Given the description of an element on the screen output the (x, y) to click on. 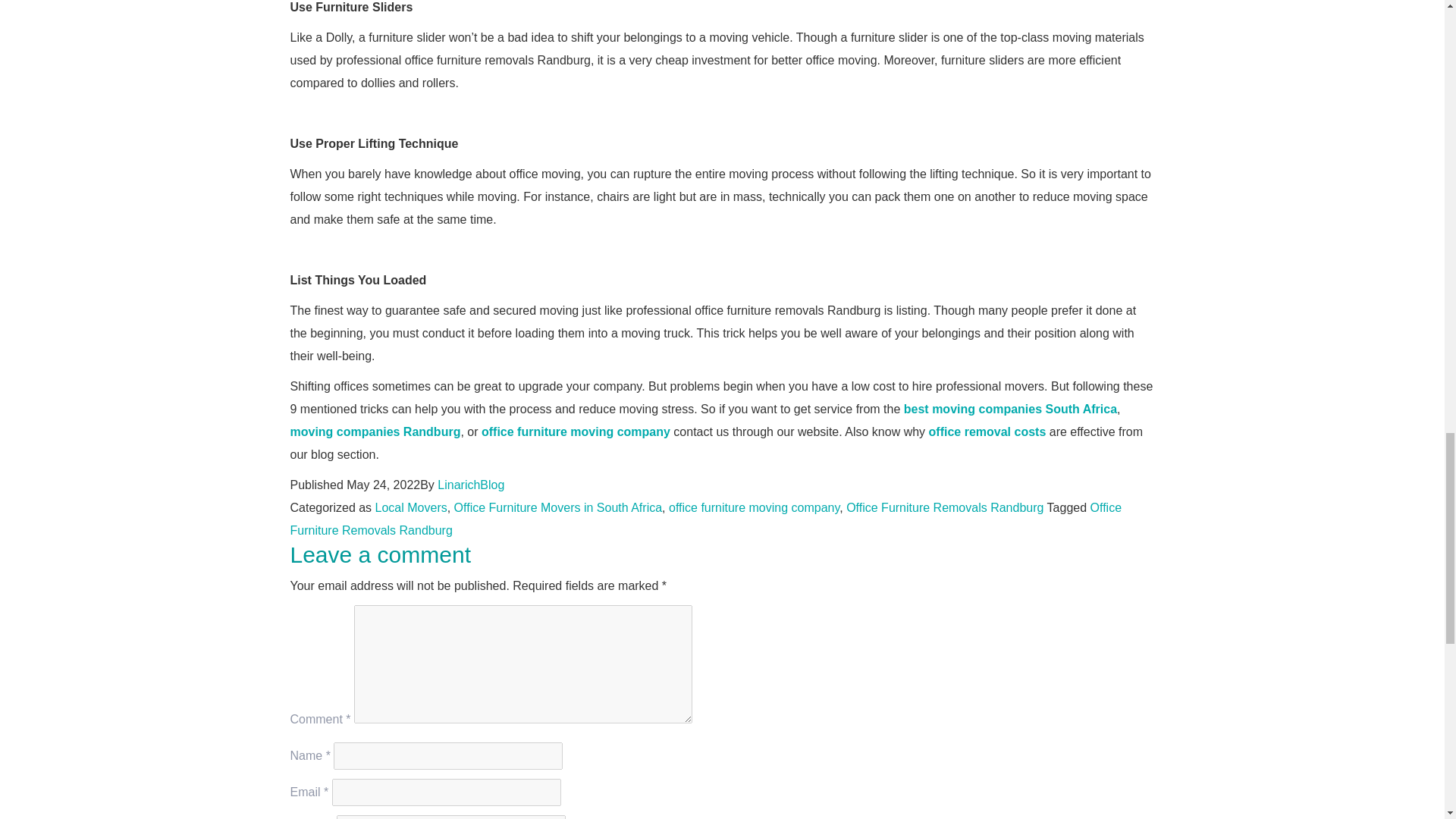
office furniture moving company (575, 431)
best moving companies South Africa (1010, 408)
Office Furniture Movers in South Africa (558, 507)
LinarichBlog (470, 484)
Office Furniture Removals Randburg (944, 507)
office removal costs (987, 431)
Office Furniture Removals Randburg (705, 519)
moving companies Randburg (374, 431)
office furniture moving company (754, 507)
Local Movers (410, 507)
